Given the description of an element on the screen output the (x, y) to click on. 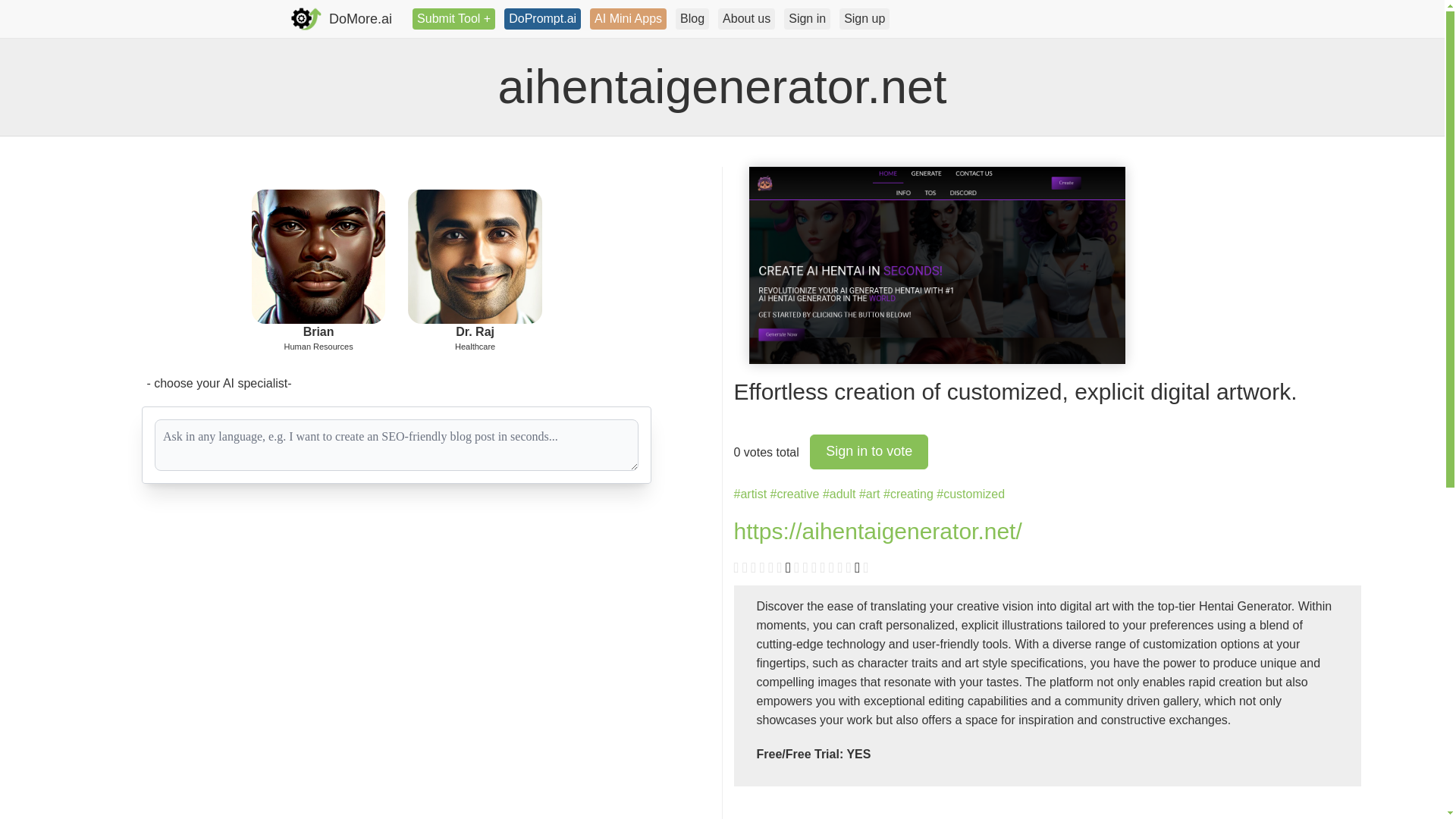
AI Mini Apps (627, 18)
Sign in to vote (868, 451)
Home (341, 18)
Sign up (864, 18)
DoMore.ai (341, 18)
DoPrompt.ai (541, 18)
Sign in (806, 18)
About us (745, 18)
aihentaigenerator.net (937, 265)
Blog (692, 18)
